Given the description of an element on the screen output the (x, y) to click on. 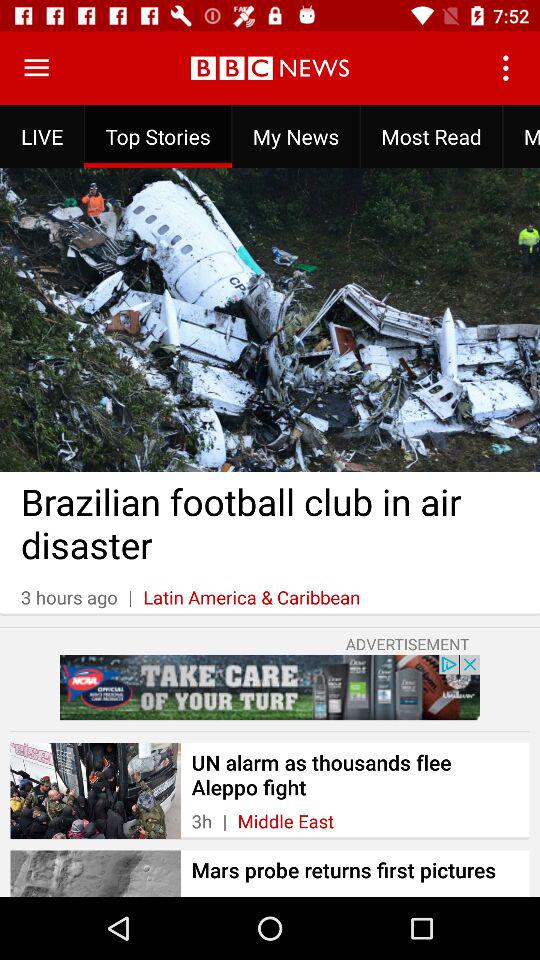
advertisement link (270, 687)
